Given the description of an element on the screen output the (x, y) to click on. 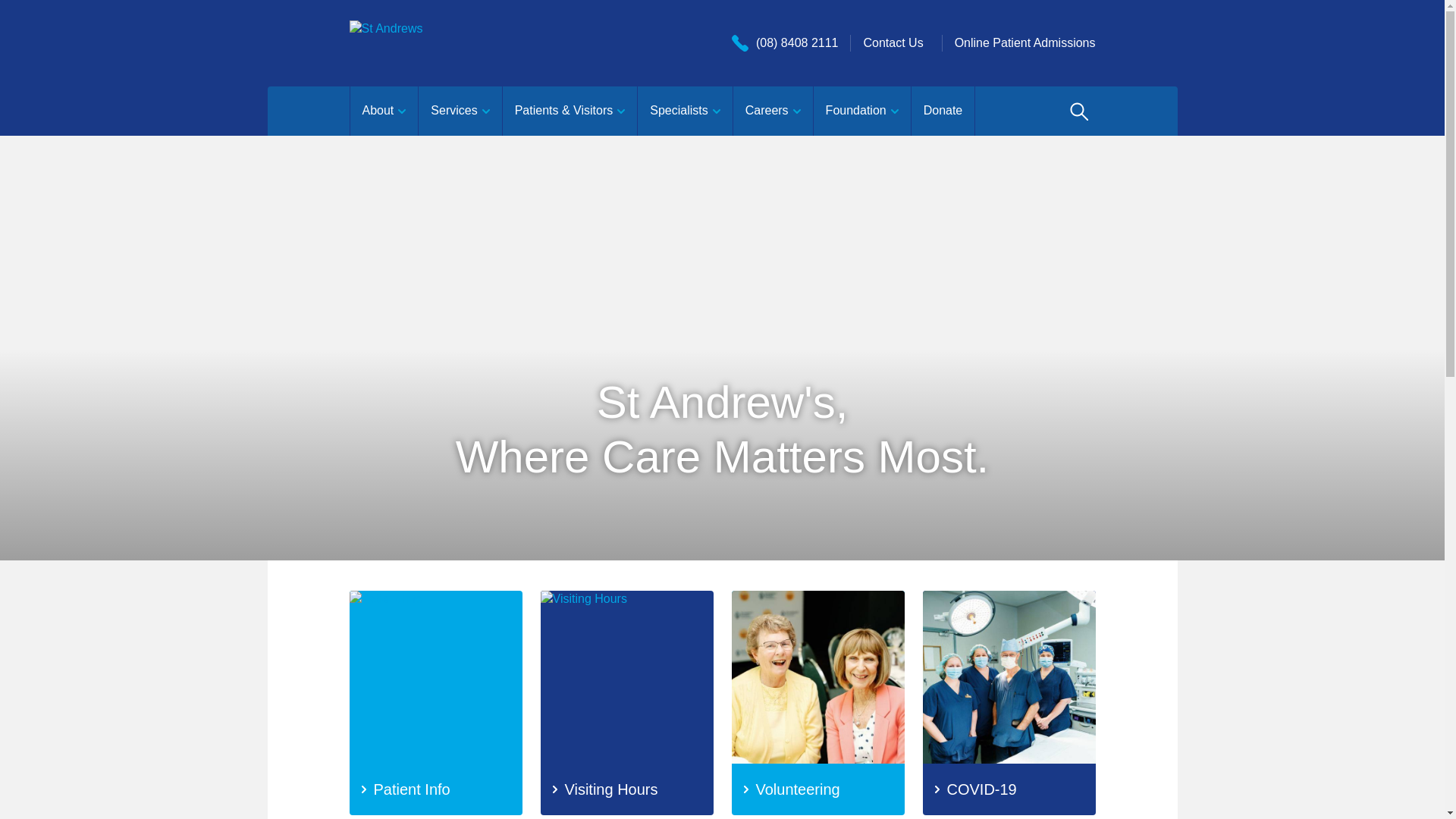
Foundation Element type: text (861, 110)
Specialists Element type: text (684, 110)
Services Element type: text (459, 110)
Visiting Hours Element type: text (625, 702)
(08) 8408 2111 Element type: text (784, 42)
Careers Element type: text (772, 110)
Volunteering Element type: text (817, 702)
Online Patient Admissions Element type: text (1024, 42)
COVID-19 Element type: text (1008, 702)
Contact Us Element type: text (892, 42)
About Element type: text (382, 110)
Patient Info Element type: text (434, 702)
Search Element type: text (1078, 110)
Donate Element type: text (942, 110)
Patients & Visitors Element type: text (569, 110)
